Given the description of an element on the screen output the (x, y) to click on. 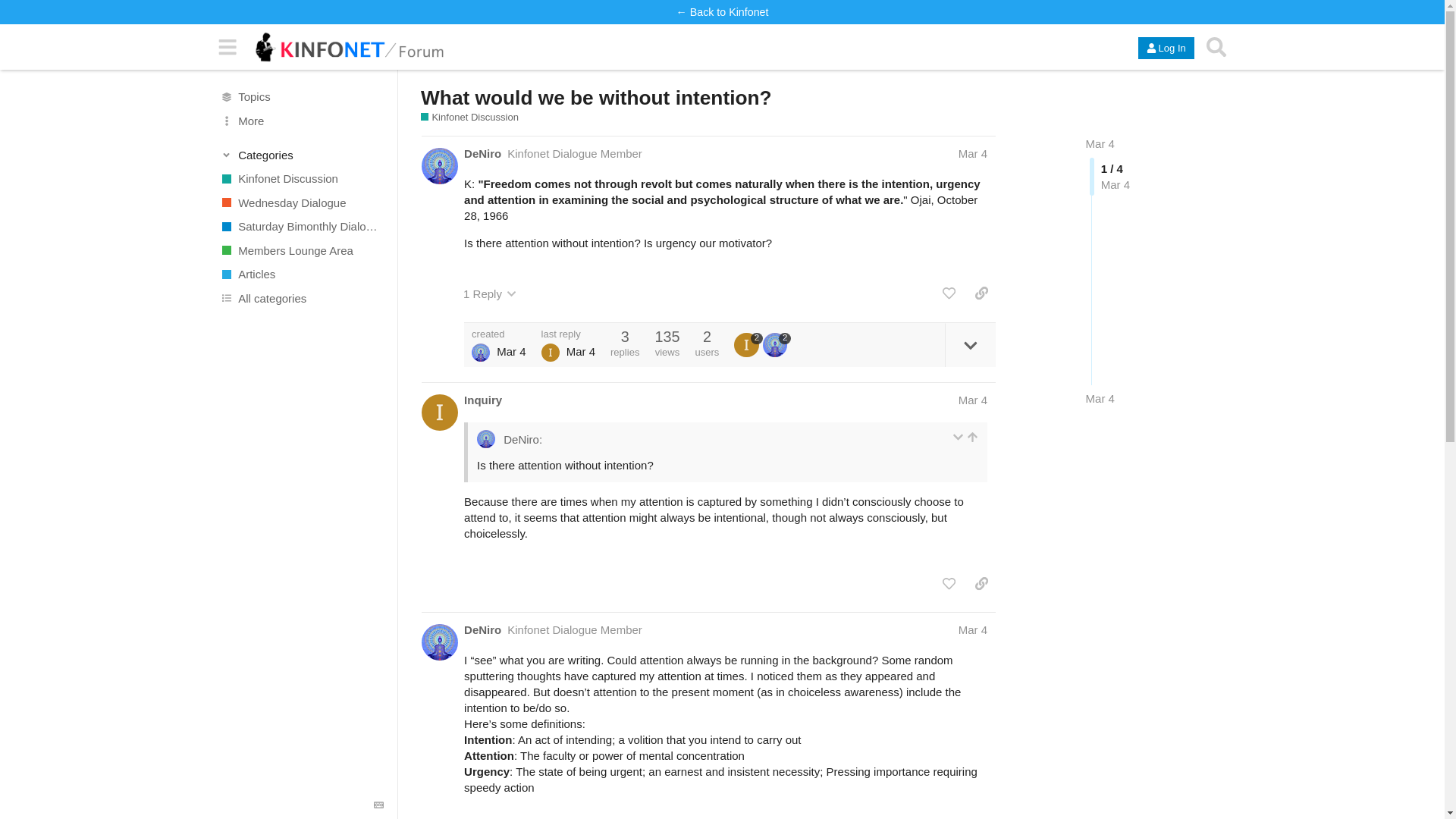
Mar 4 (972, 153)
Inquiry (483, 399)
Mar 4 (1100, 398)
last reply (568, 334)
2 (747, 344)
Mar 4, 2024 4:22 am (1100, 398)
All topics (301, 96)
Categories (301, 154)
Saturday Bimonthly Dialogue (301, 226)
Articles (301, 274)
What would we be without intention? (595, 97)
Members Lounge Area (301, 250)
Comments on articles found on the Kinfonet website. (301, 274)
Wednesday Dialogue (301, 202)
Toggle section (301, 154)
